Given the description of an element on the screen output the (x, y) to click on. 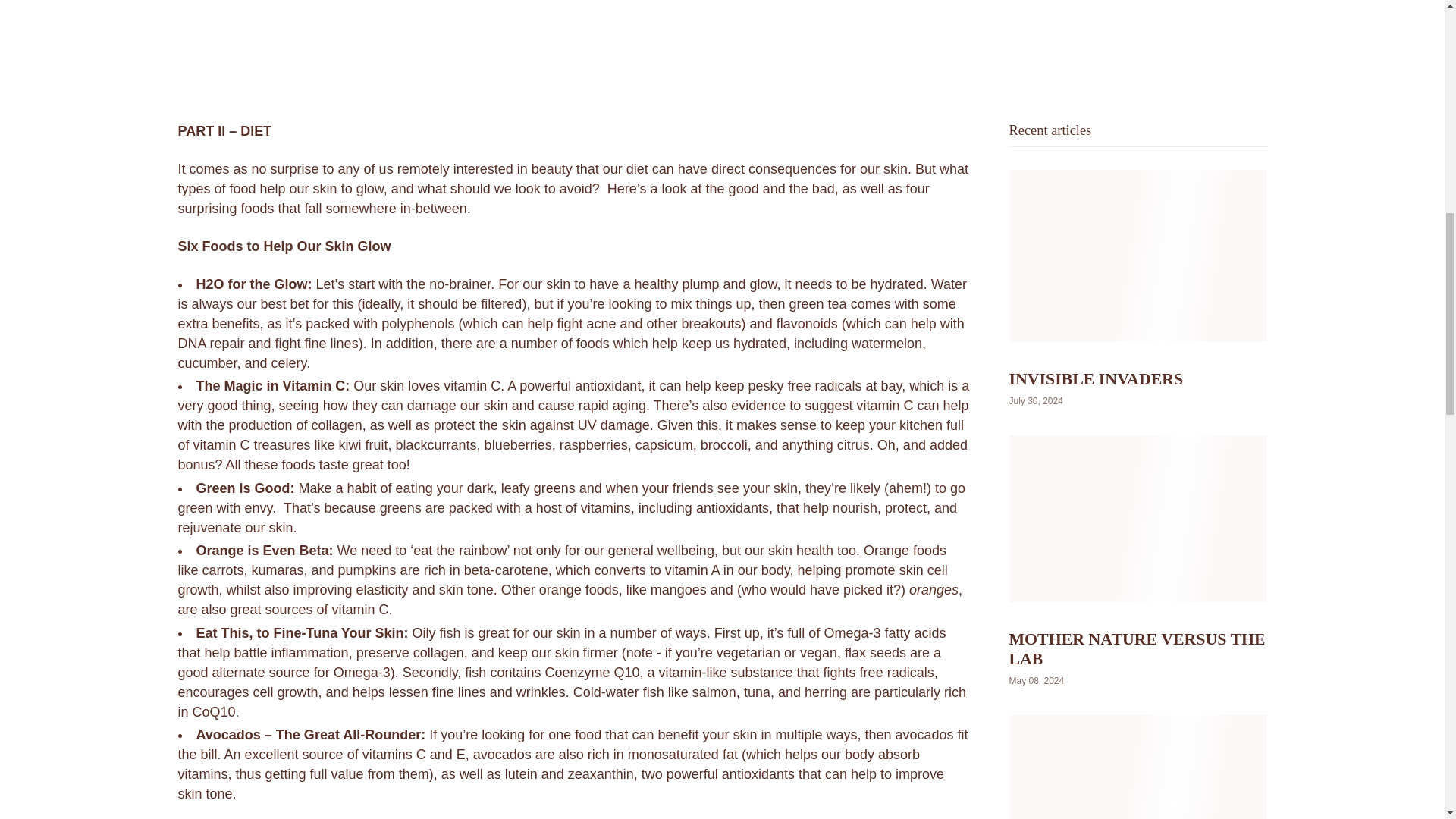
MOTHER NATURE VERSUS THE LAB (1137, 648)
INVISIBLE INVADERS (1095, 379)
